Given the description of an element on the screen output the (x, y) to click on. 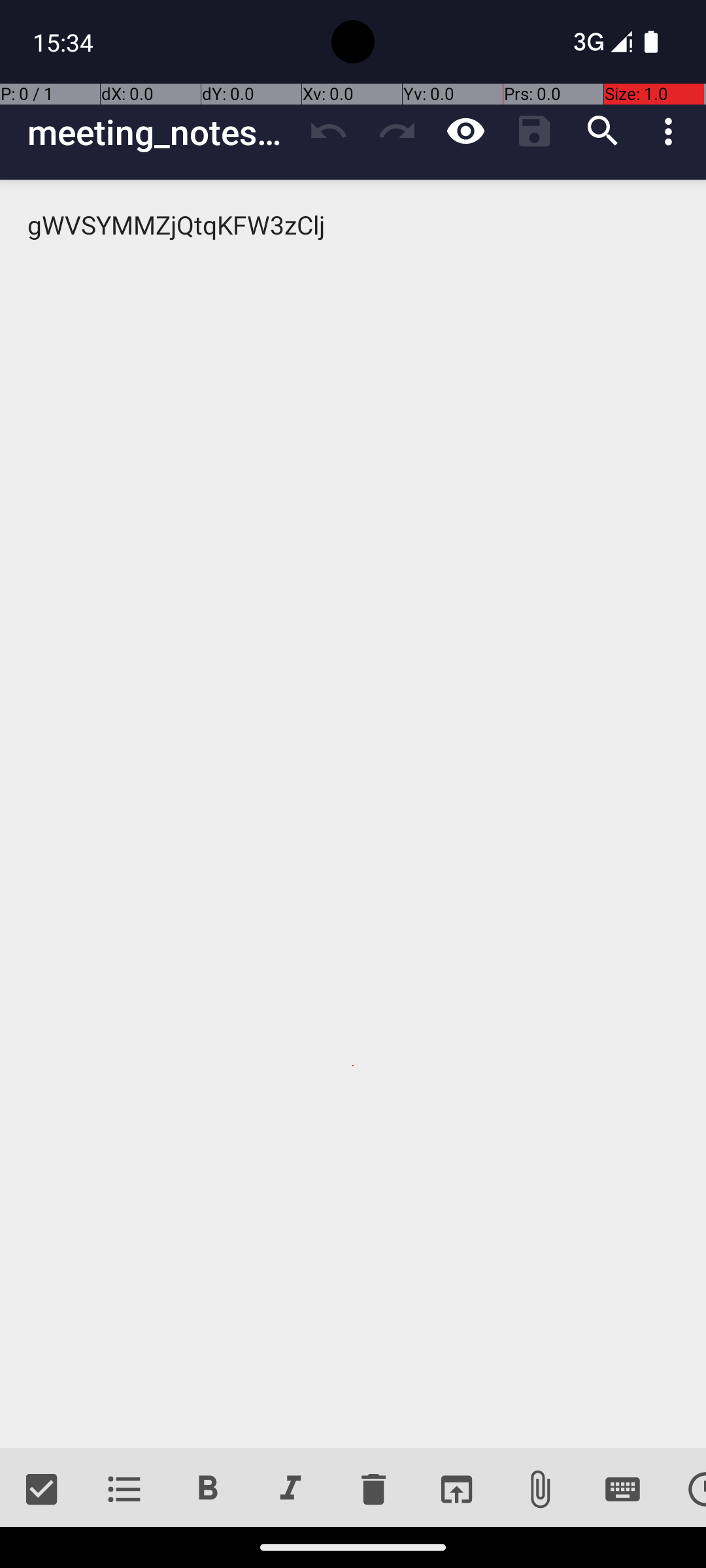
meeting_notes_project_team_final Element type: android.widget.TextView (160, 131)
gWVSYMMZjQtqKFW3zClj
 Element type: android.widget.EditText (353, 813)
